Given the description of an element on the screen output the (x, y) to click on. 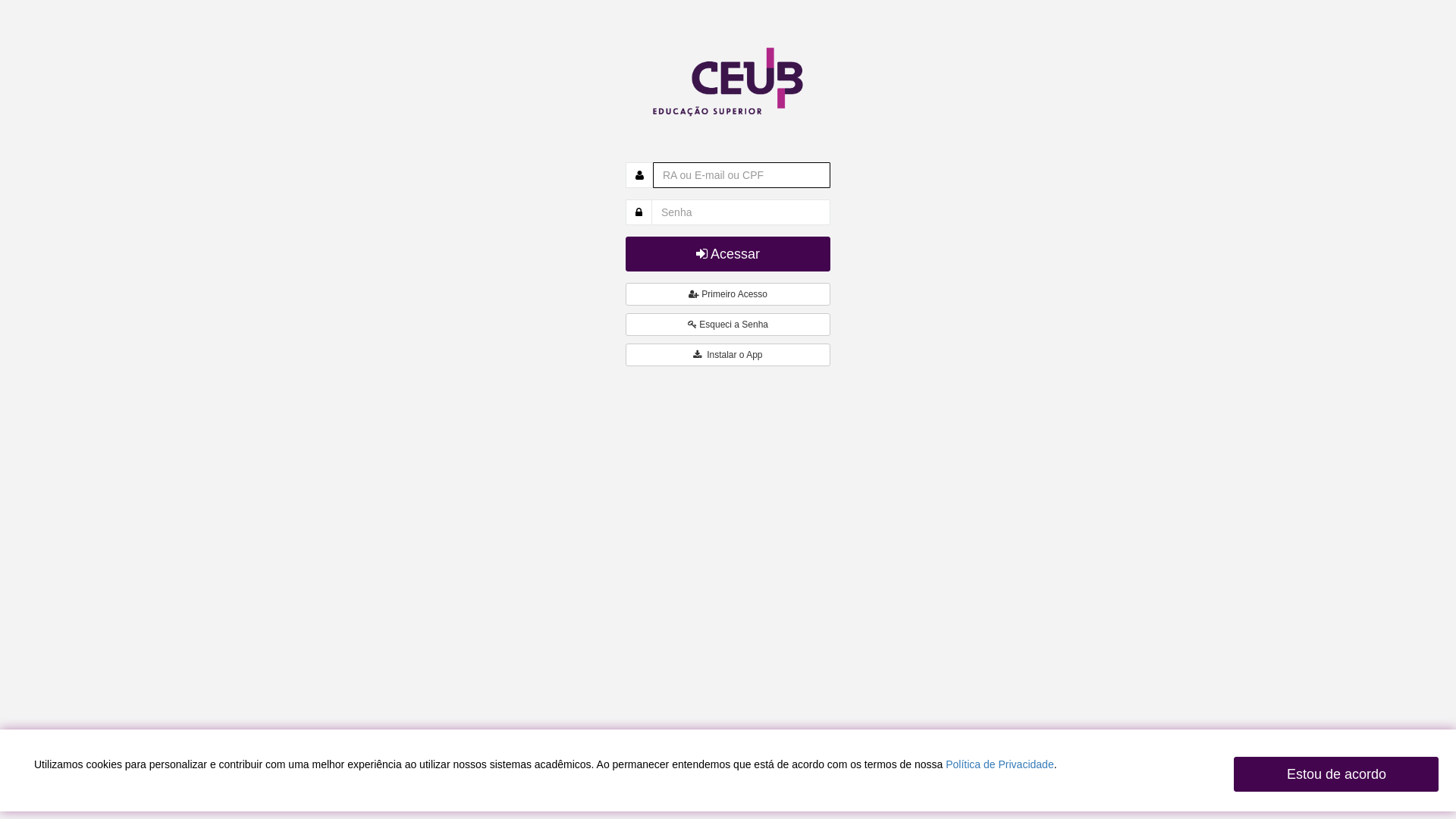
 Esqueci a Senha Element type: text (727, 324)
Estou de acordo Element type: text (1335, 773)
 Acessar Element type: text (727, 253)
 Primeiro Acesso Element type: text (727, 293)
  Instalar o App Element type: text (727, 354)
